Given the description of an element on the screen output the (x, y) to click on. 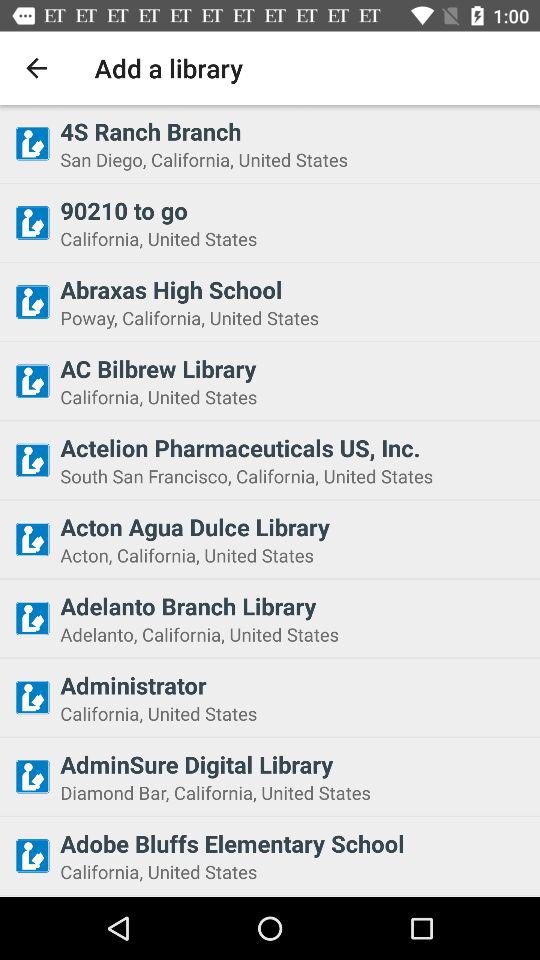
click the item below the adminsure digital library item (294, 792)
